Given the description of an element on the screen output the (x, y) to click on. 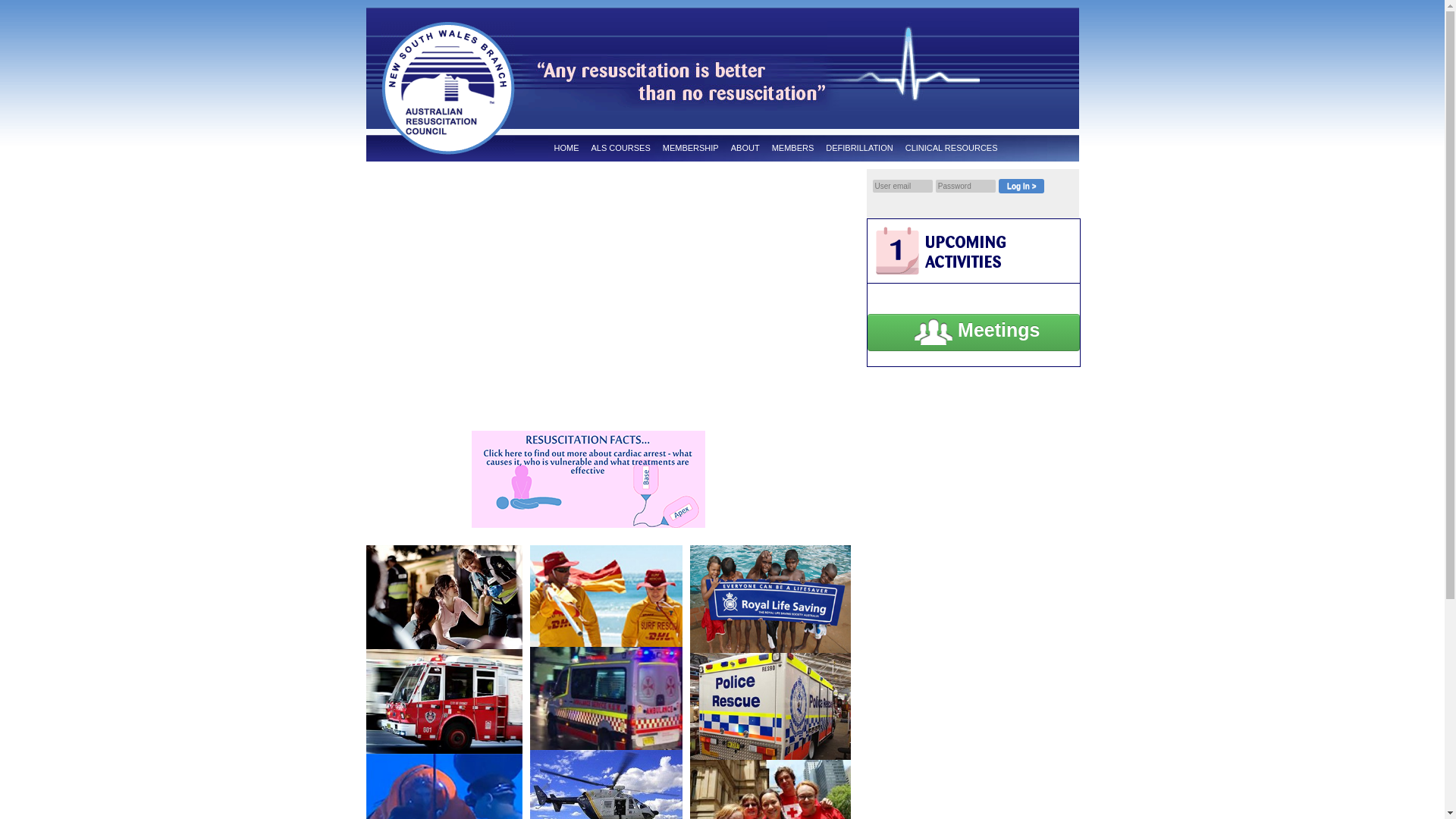
MEMBERSHIP Element type: text (690, 147)
HOME Element type: text (565, 147)
Log In > Element type: text (1021, 185)
DEFIBRILLATION Element type: text (858, 147)
CLINICAL RESOURCES Element type: text (951, 147)
ALS COURSES Element type: text (620, 147)
Meetings Element type: text (973, 332)
MEMBERS Element type: text (792, 147)
ABOUT Element type: text (744, 147)
